Given the description of an element on the screen output the (x, y) to click on. 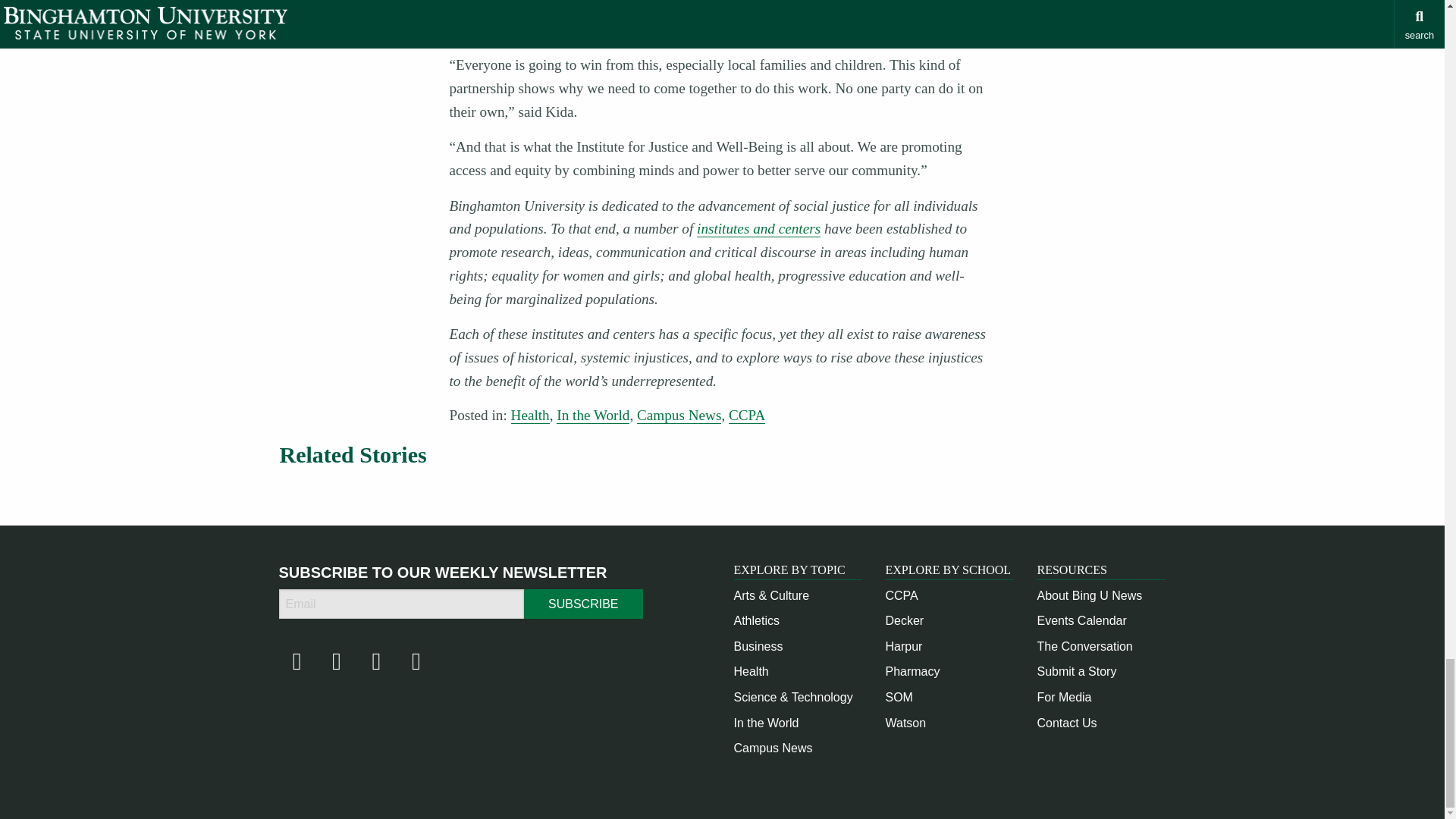
Subscribe (583, 603)
Athletics (755, 620)
Health (750, 671)
Campus News (772, 748)
In the World (766, 722)
Instagram (335, 665)
CCPA (901, 594)
CCPA (747, 415)
institutes and centers (759, 228)
Snapchat (415, 665)
